Given the description of an element on the screen output the (x, y) to click on. 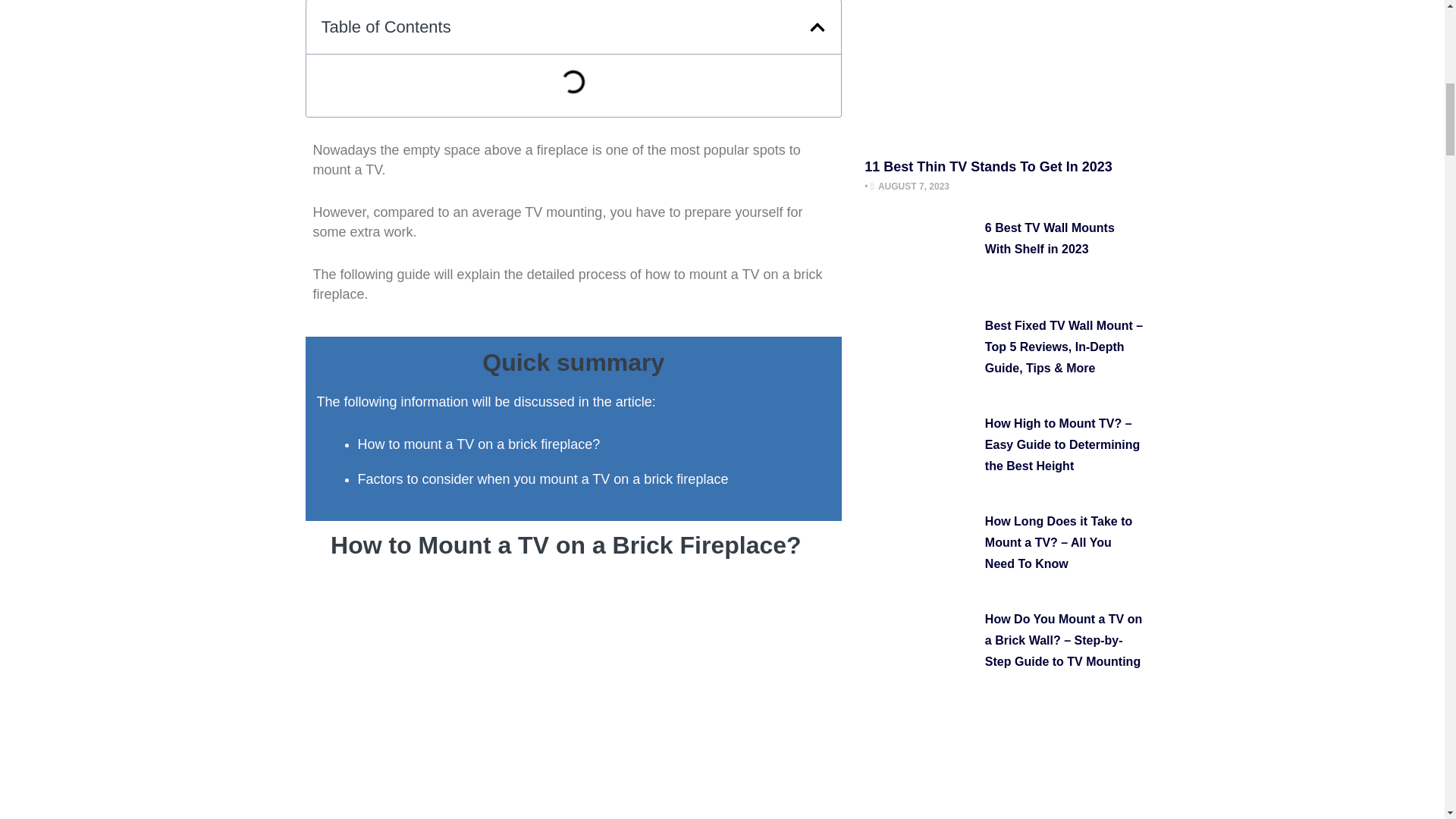
how do you mount a tv on a brick wall (920, 654)
TV Mount WITH Shelf (920, 262)
how long does it take to mount a tv (920, 556)
best fixed tv wall mount (920, 361)
how high to mount tv (920, 458)
